Given the description of an element on the screen output the (x, y) to click on. 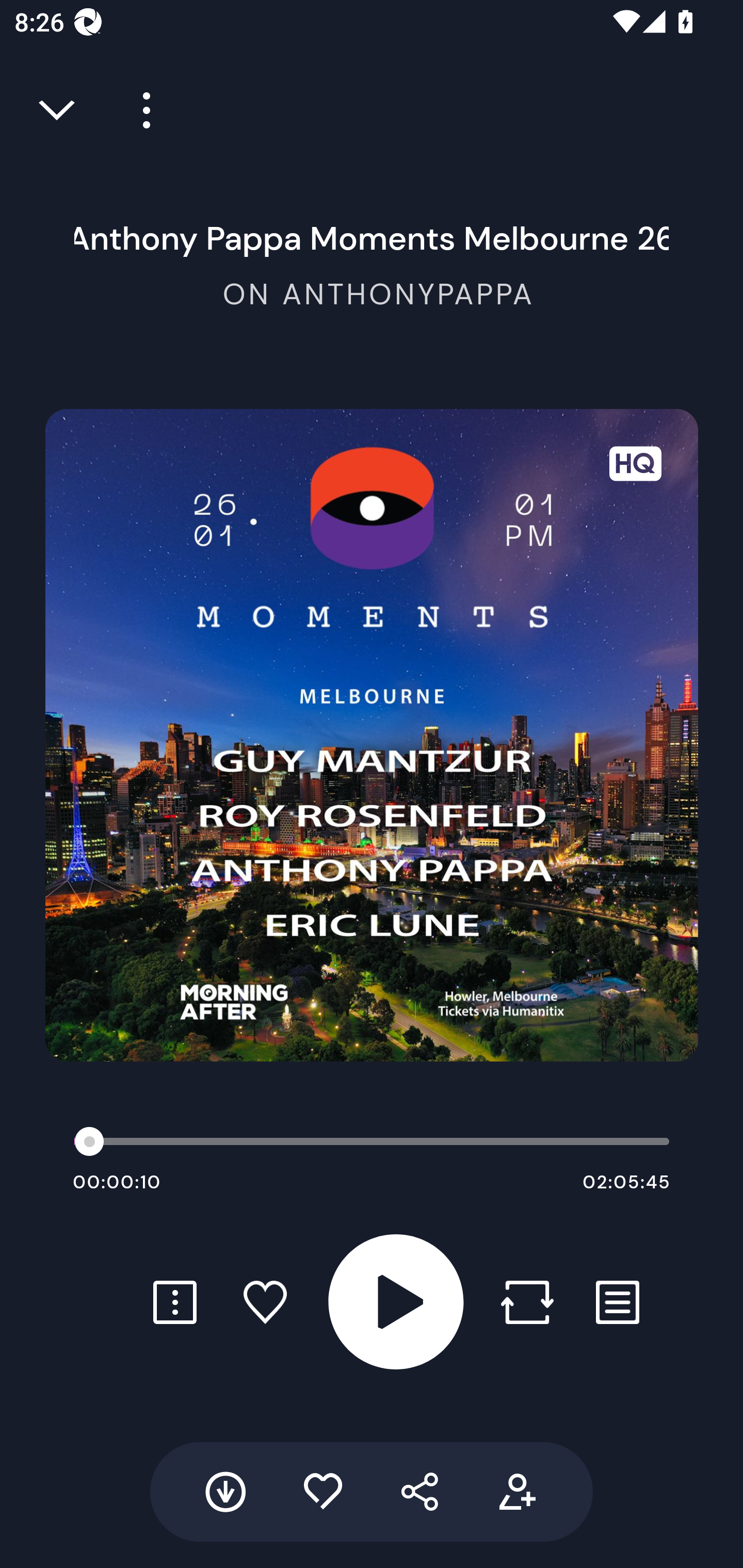
Close full player (58, 110)
Player more options button (139, 110)
Repost button (527, 1301)
